Given the description of an element on the screen output the (x, y) to click on. 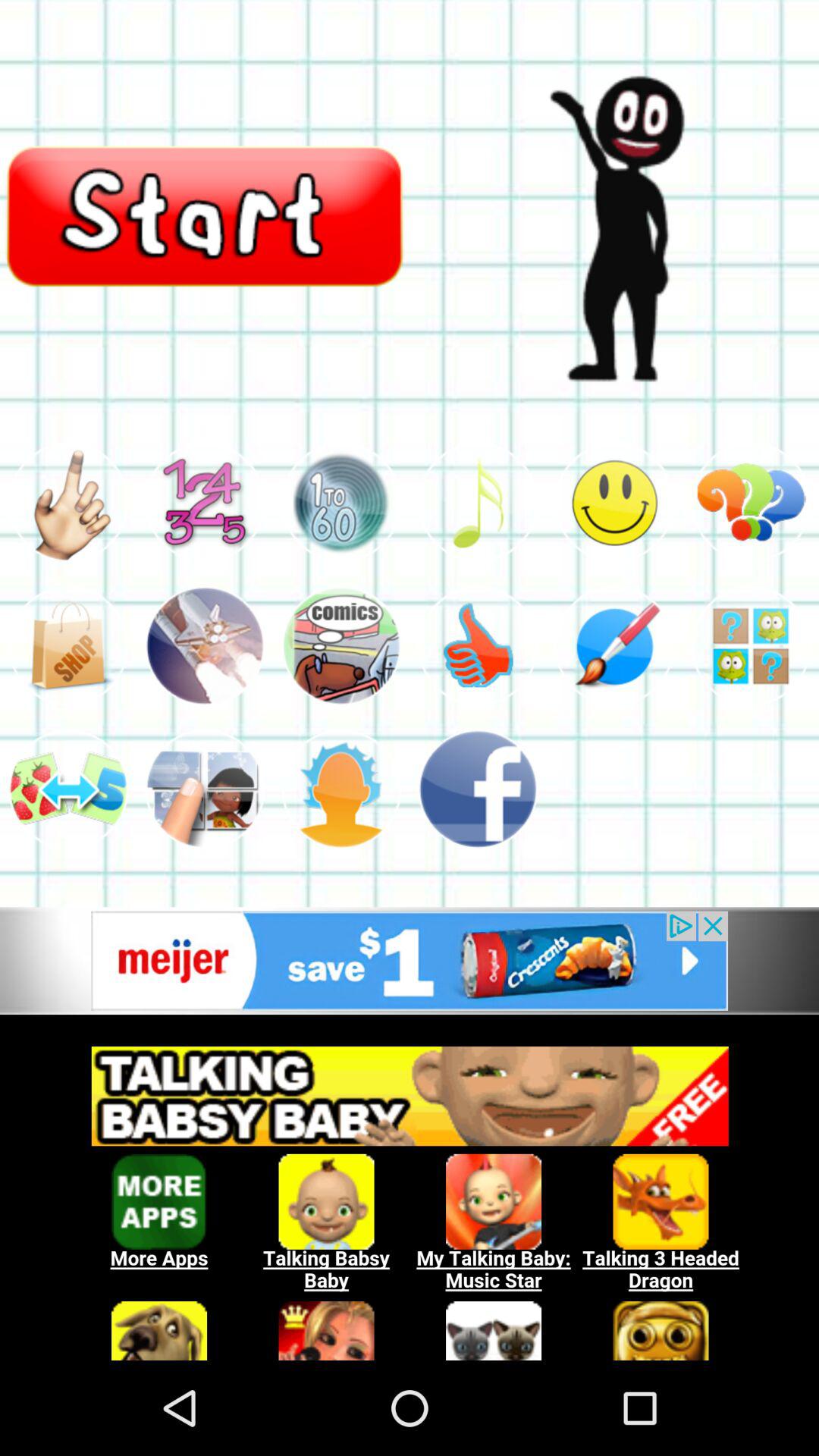
open up the music section (477, 502)
